Given the description of an element on the screen output the (x, y) to click on. 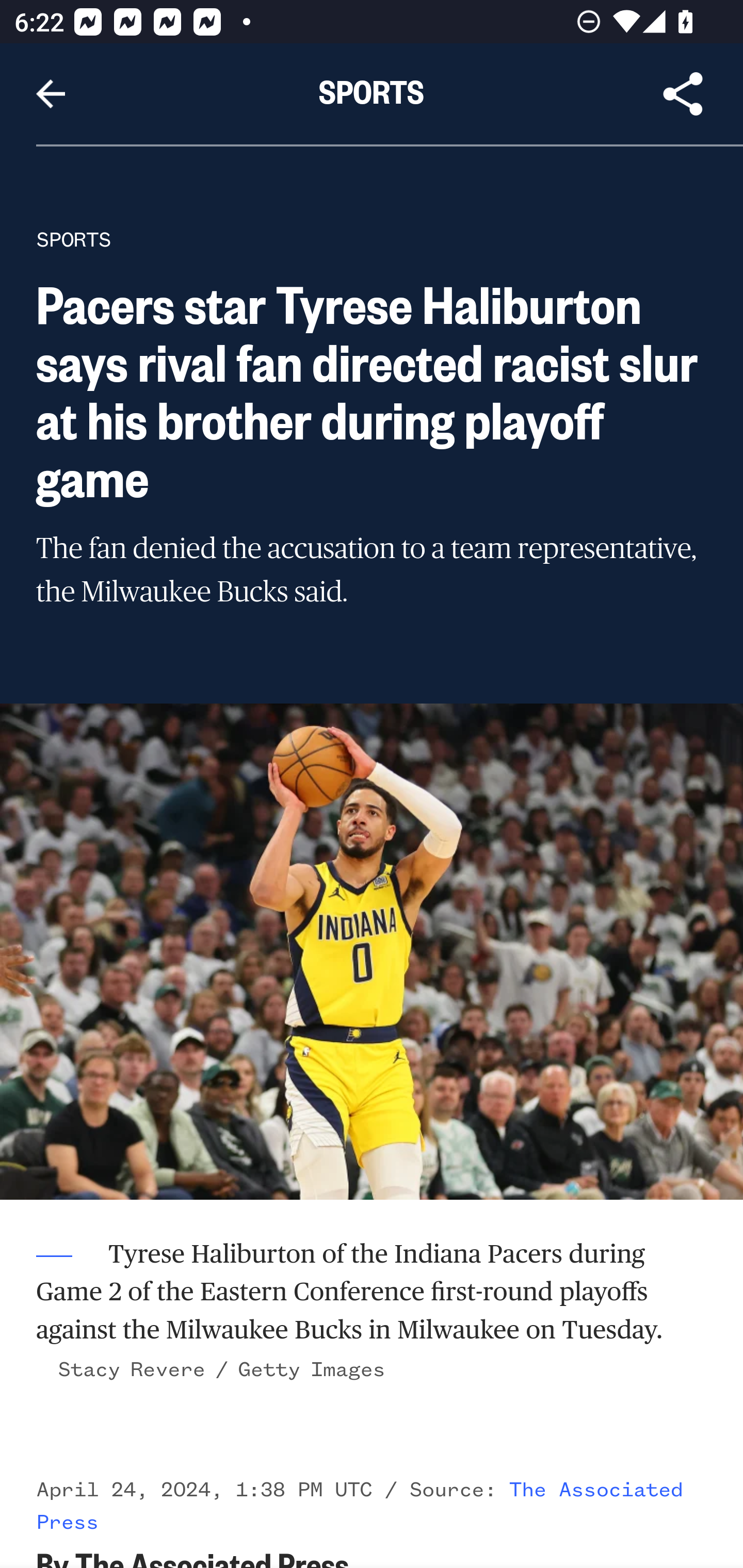
Navigate up (50, 93)
Share Article, button (683, 94)
